Given the description of an element on the screen output the (x, y) to click on. 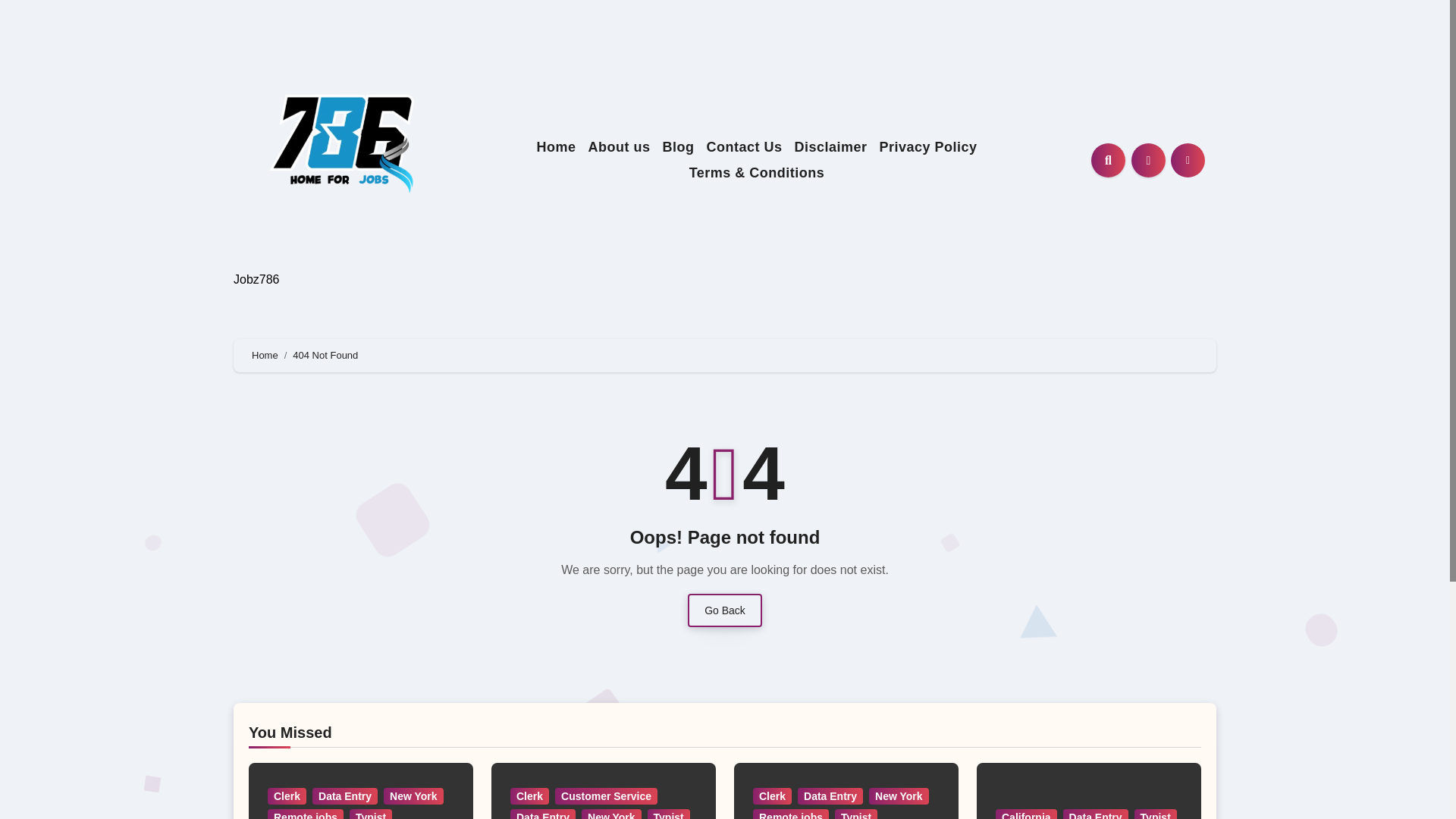
Privacy Policy (927, 147)
Disclaimer (829, 147)
Clerk (286, 795)
Clerk (529, 795)
New York (898, 795)
Go Back (724, 610)
New York (611, 814)
Contact Us (743, 147)
New York (414, 795)
Data Entry (830, 795)
